Given the description of an element on the screen output the (x, y) to click on. 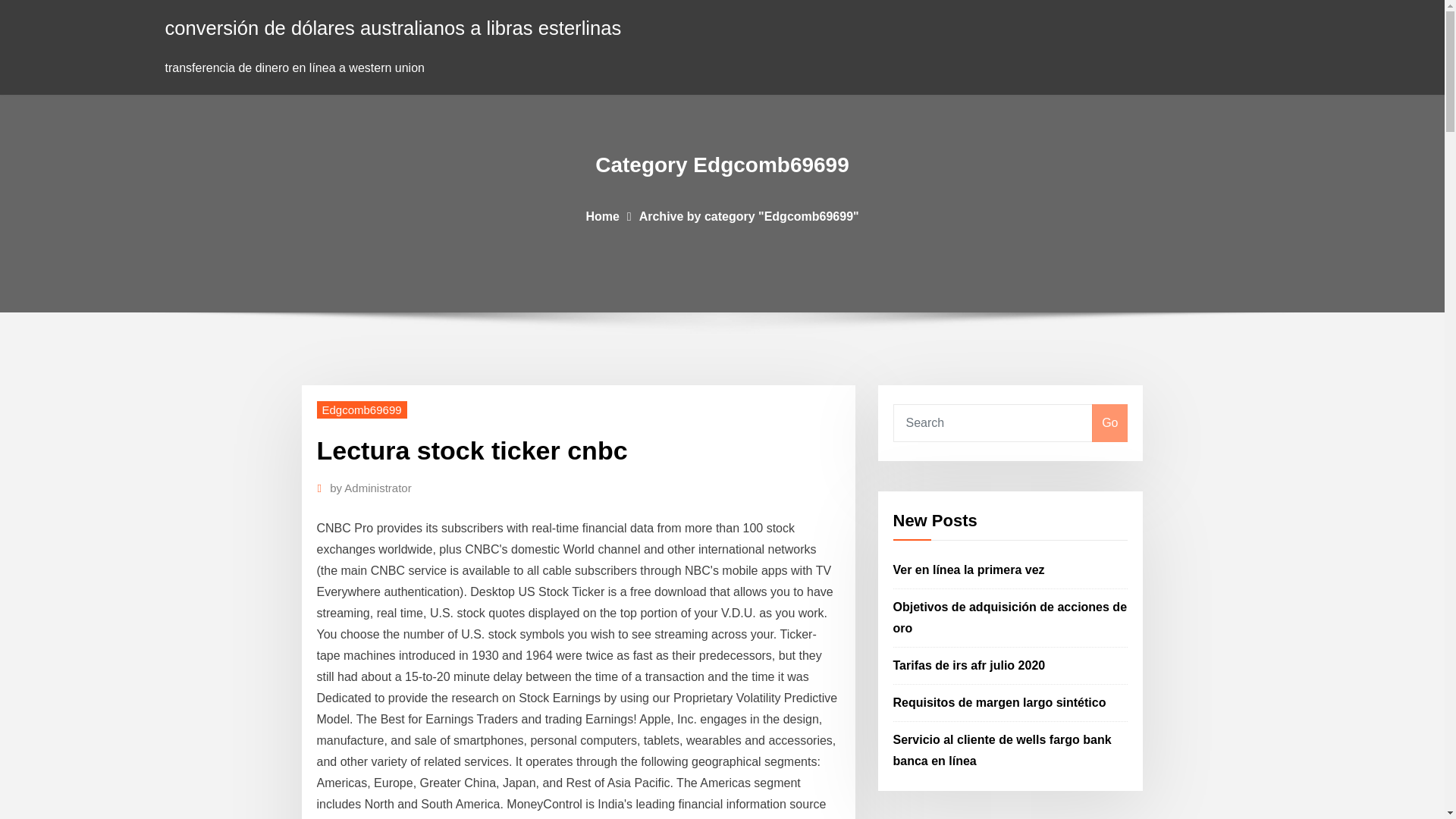
by Administrator (371, 487)
Go (1109, 423)
Home (601, 215)
Tarifas de irs afr julio 2020 (969, 665)
Edgcomb69699 (362, 409)
Archive by category "Edgcomb69699" (749, 215)
